Given the description of an element on the screen output the (x, y) to click on. 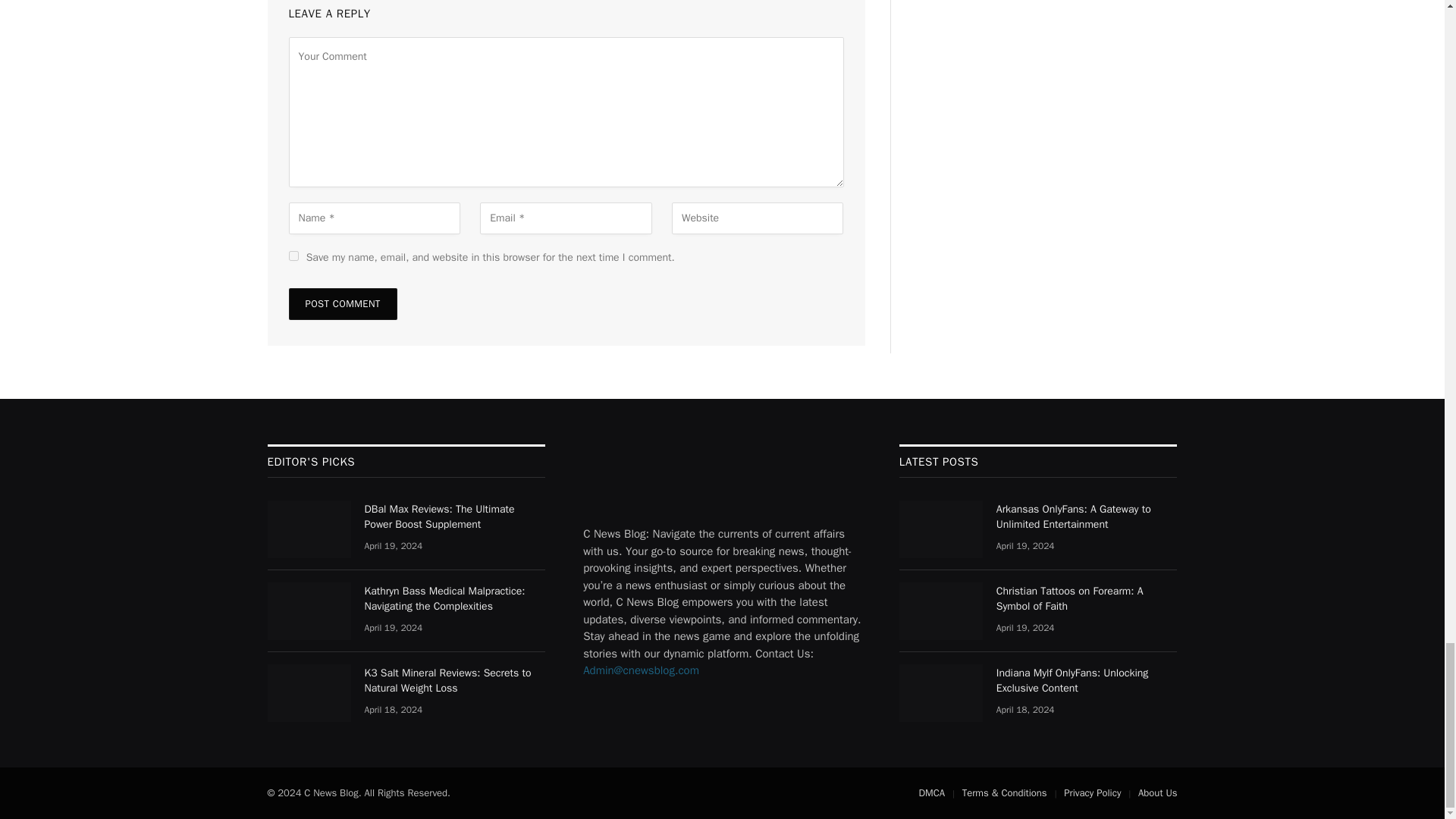
Post Comment (342, 304)
K3 Salt Mineral Reviews: Secrets to Natural Weight Loss (308, 692)
DBal Max Reviews: The Ultimate Power Boost Supplement (308, 528)
Post Comment (342, 304)
yes (293, 255)
